Given the description of an element on the screen output the (x, y) to click on. 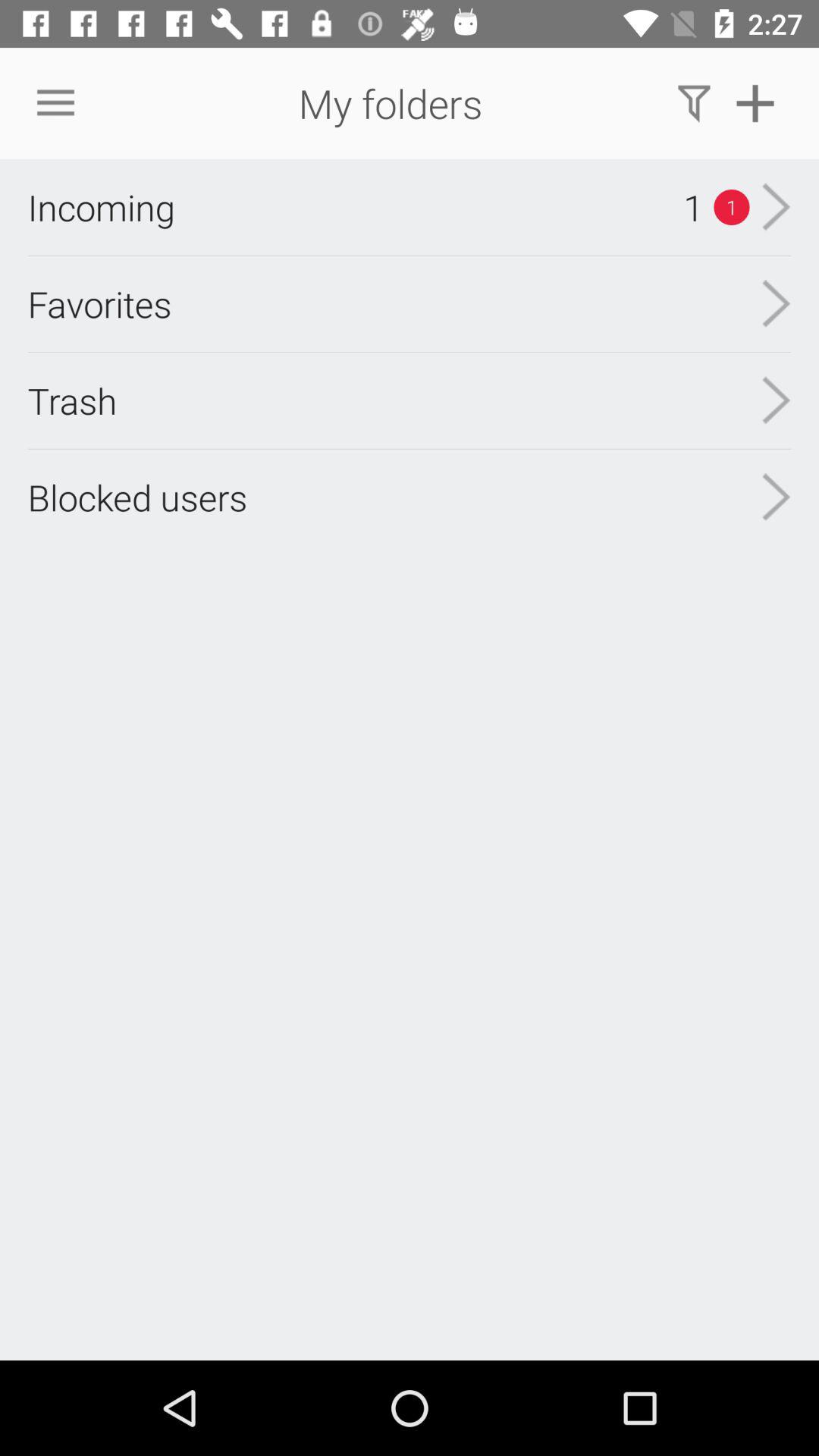
tap the trash item (72, 400)
